Given the description of an element on the screen output the (x, y) to click on. 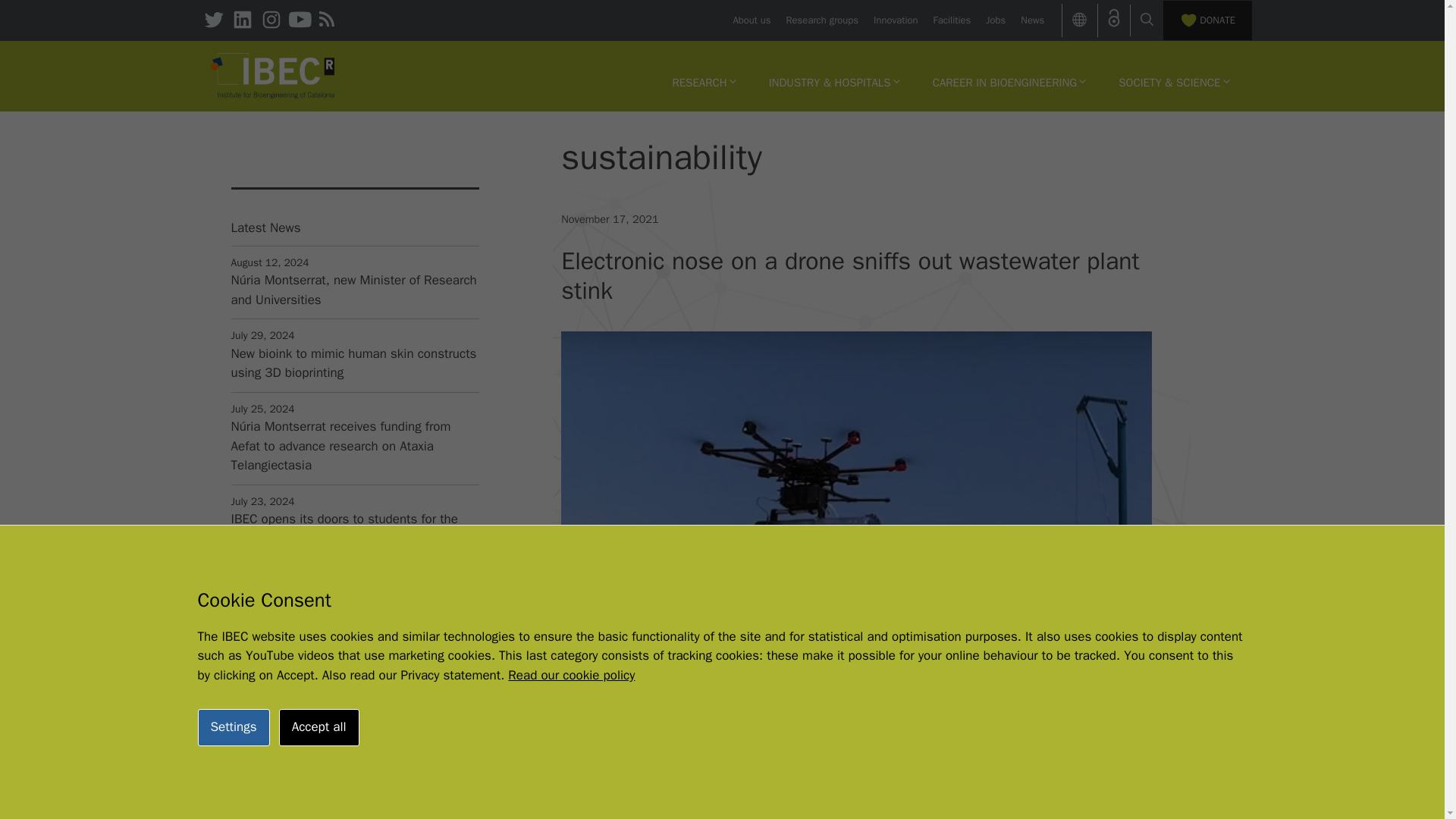
Facilities (952, 19)
RESEARCH (704, 81)
Jobs (995, 19)
Sign me up (353, 811)
News (1031, 19)
DONATE (1207, 20)
About us (751, 19)
Institute for Bioengineering of Catalonia (272, 75)
Institute for Bioengineering of Catalonia (272, 74)
Innovation (895, 19)
